Given the description of an element on the screen output the (x, y) to click on. 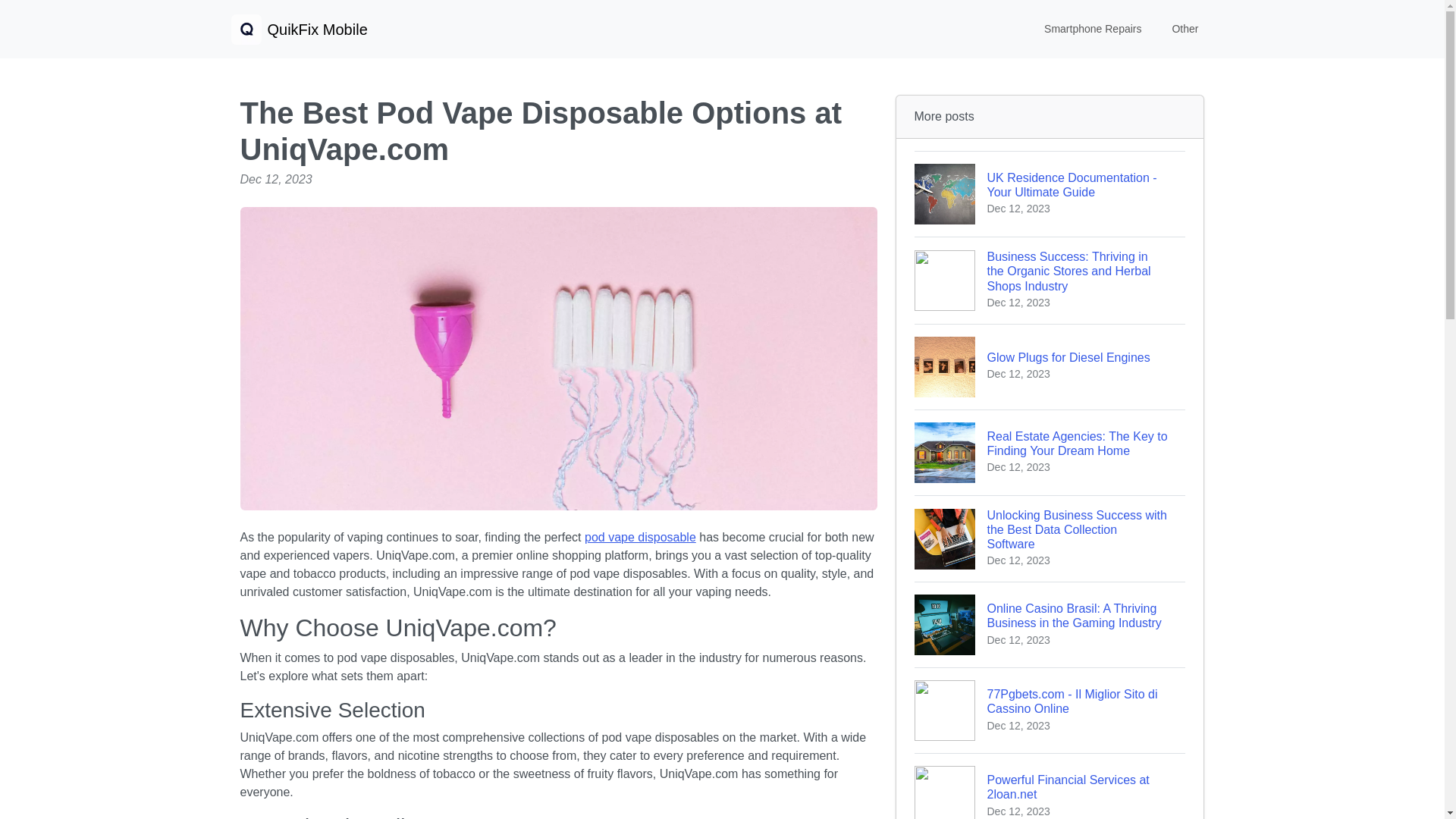
QuikFix Mobile (1050, 366)
pod vape disposable (298, 29)
Other (1050, 785)
